Given the description of an element on the screen output the (x, y) to click on. 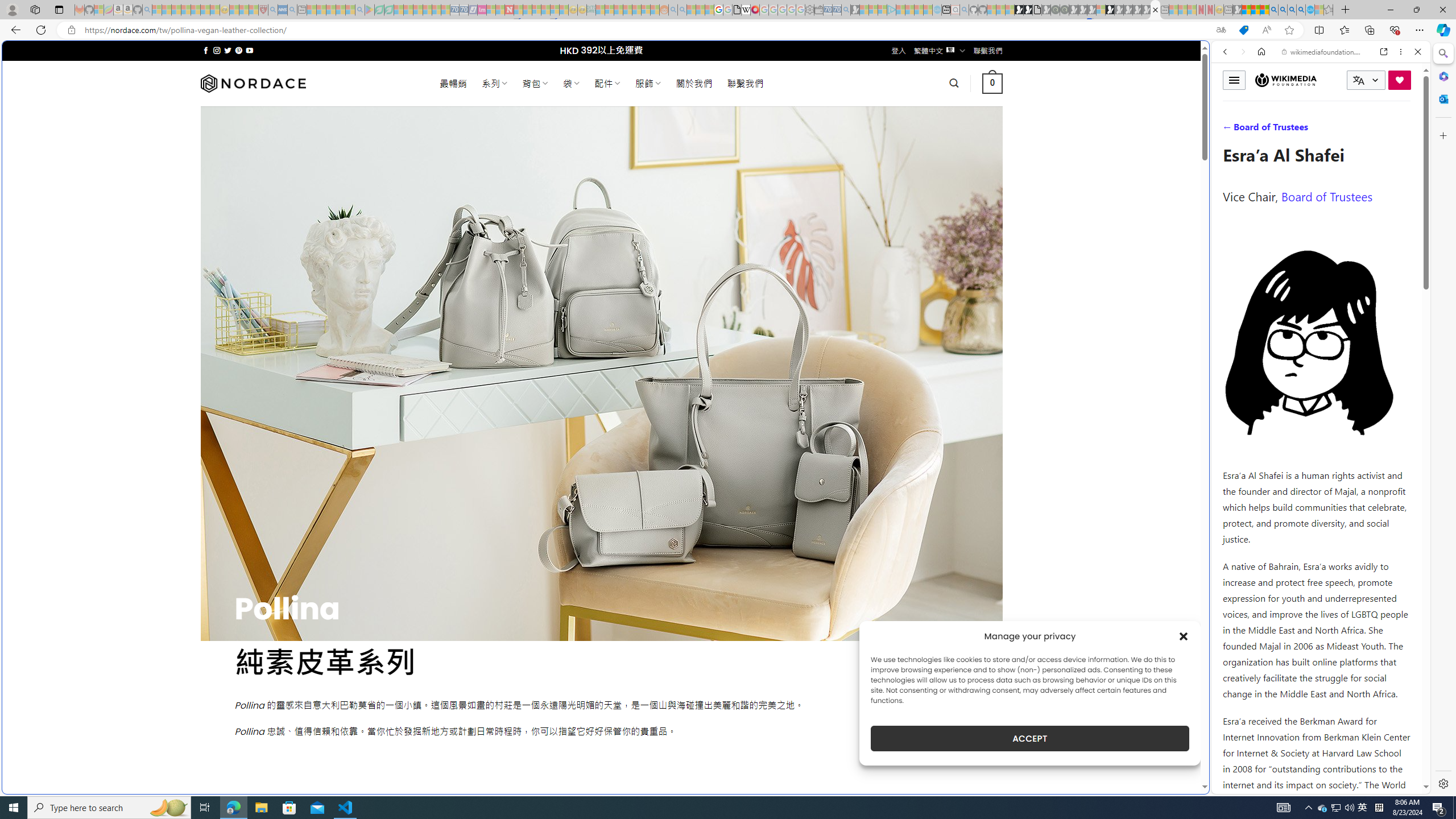
Wiktionary (1315, 380)
Wikimedia Foundation (1286, 79)
